Given the description of an element on the screen output the (x, y) to click on. 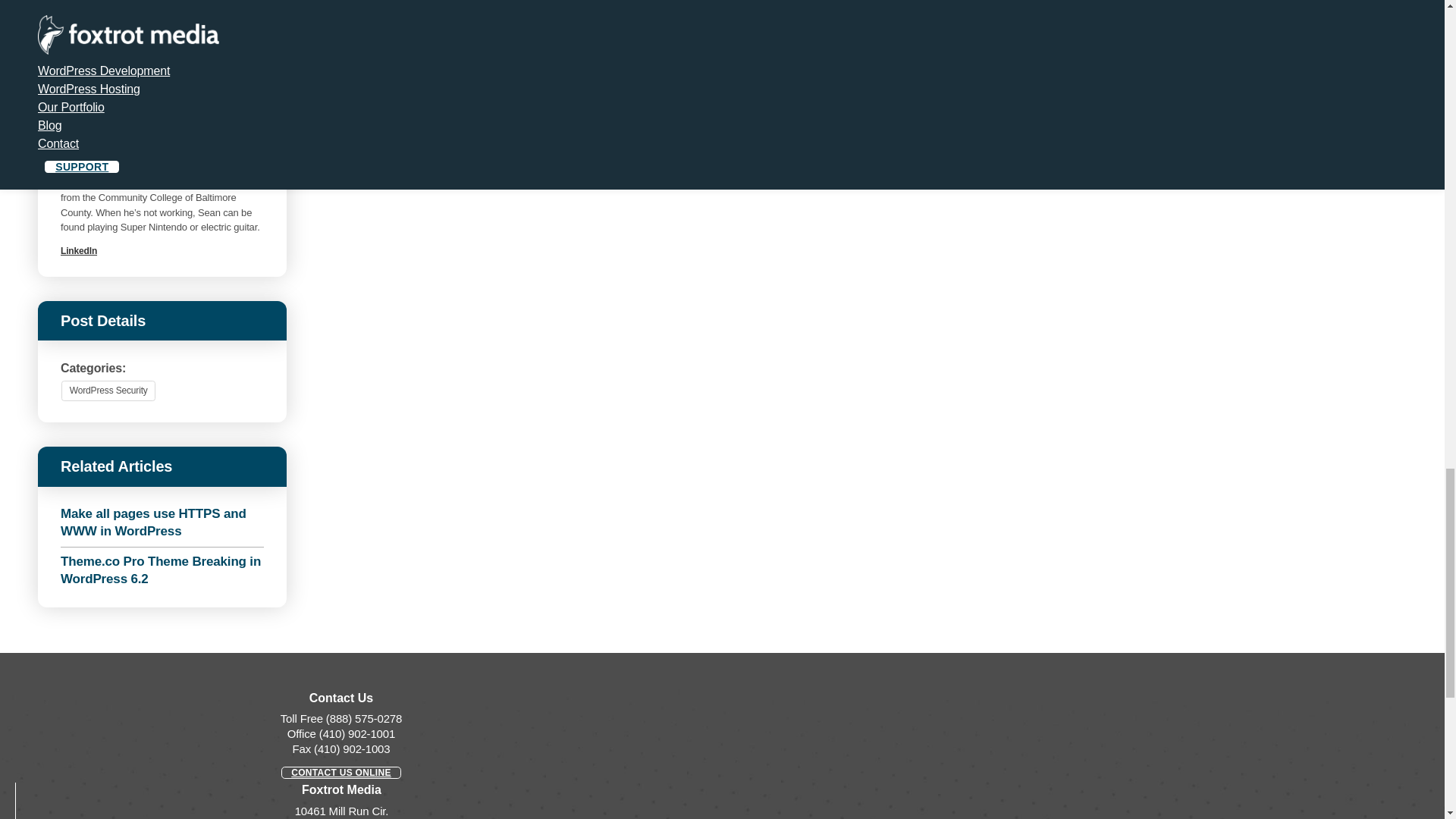
Make all pages use HTTPS and WWW in WordPress (162, 522)
LinkedIn (79, 250)
CONTACT US ONLINE (341, 772)
WordPress Security (108, 390)
Theme.co Pro Theme Breaking in WordPress 6.2 (162, 570)
